Given the description of an element on the screen output the (x, y) to click on. 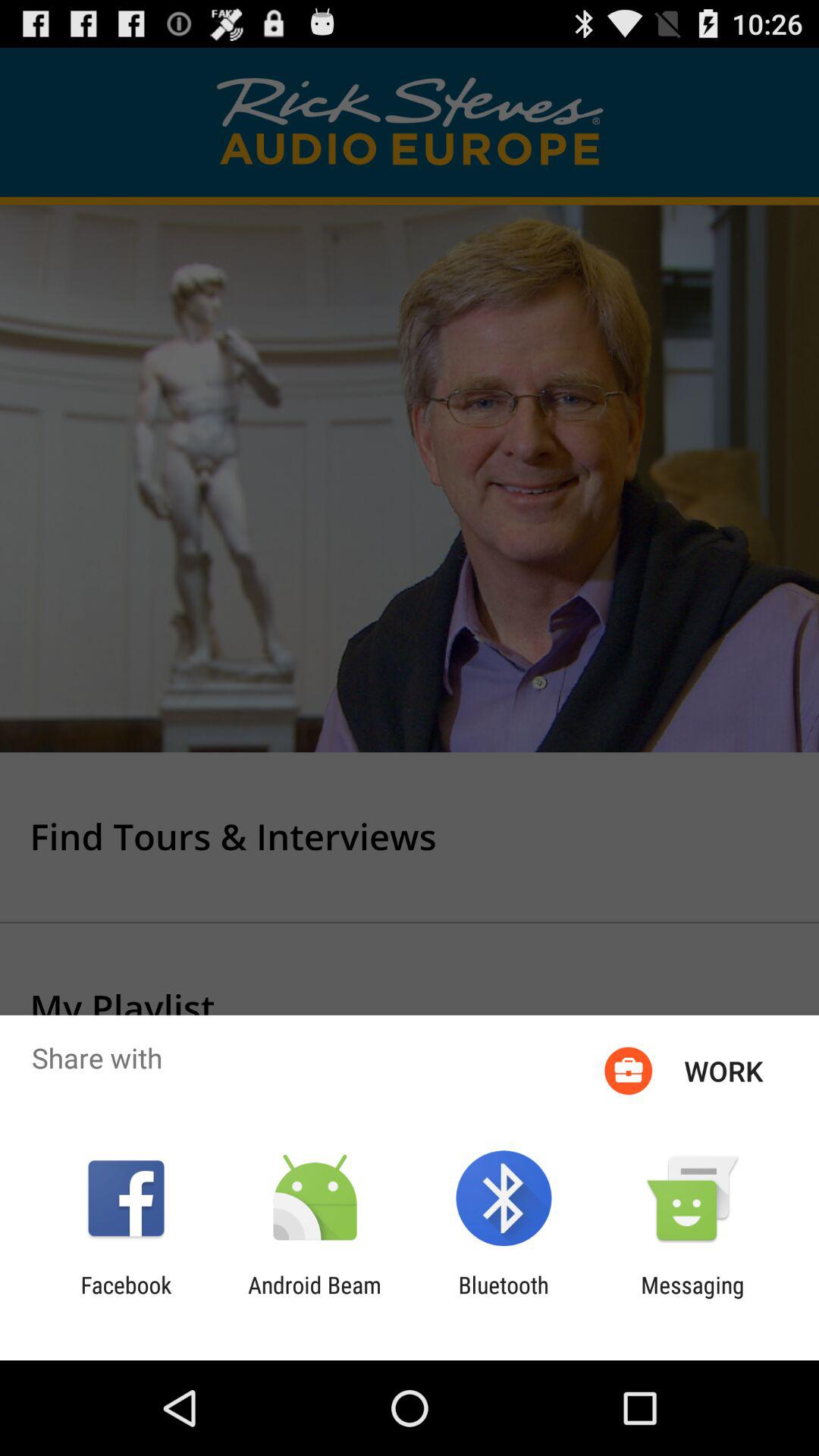
click icon to the right of bluetooth icon (692, 1298)
